Given the description of an element on the screen output the (x, y) to click on. 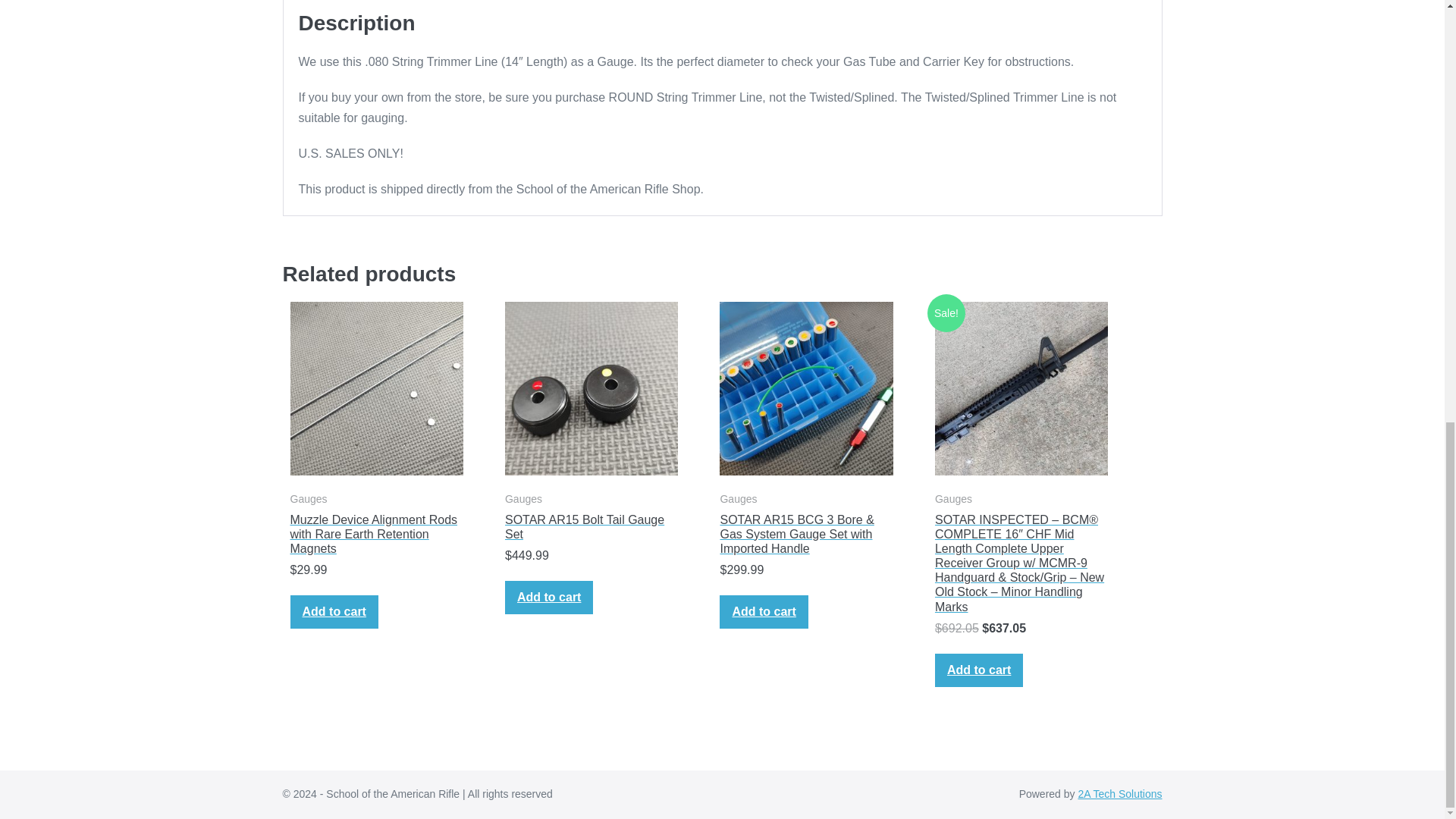
Add to cart (333, 611)
Add to cart (978, 670)
Add to cart (763, 611)
Sale! (1021, 388)
SOTAR AR15 Bolt Tail Gauge Set (591, 526)
Add to cart (548, 597)
